Given the description of an element on the screen output the (x, y) to click on. 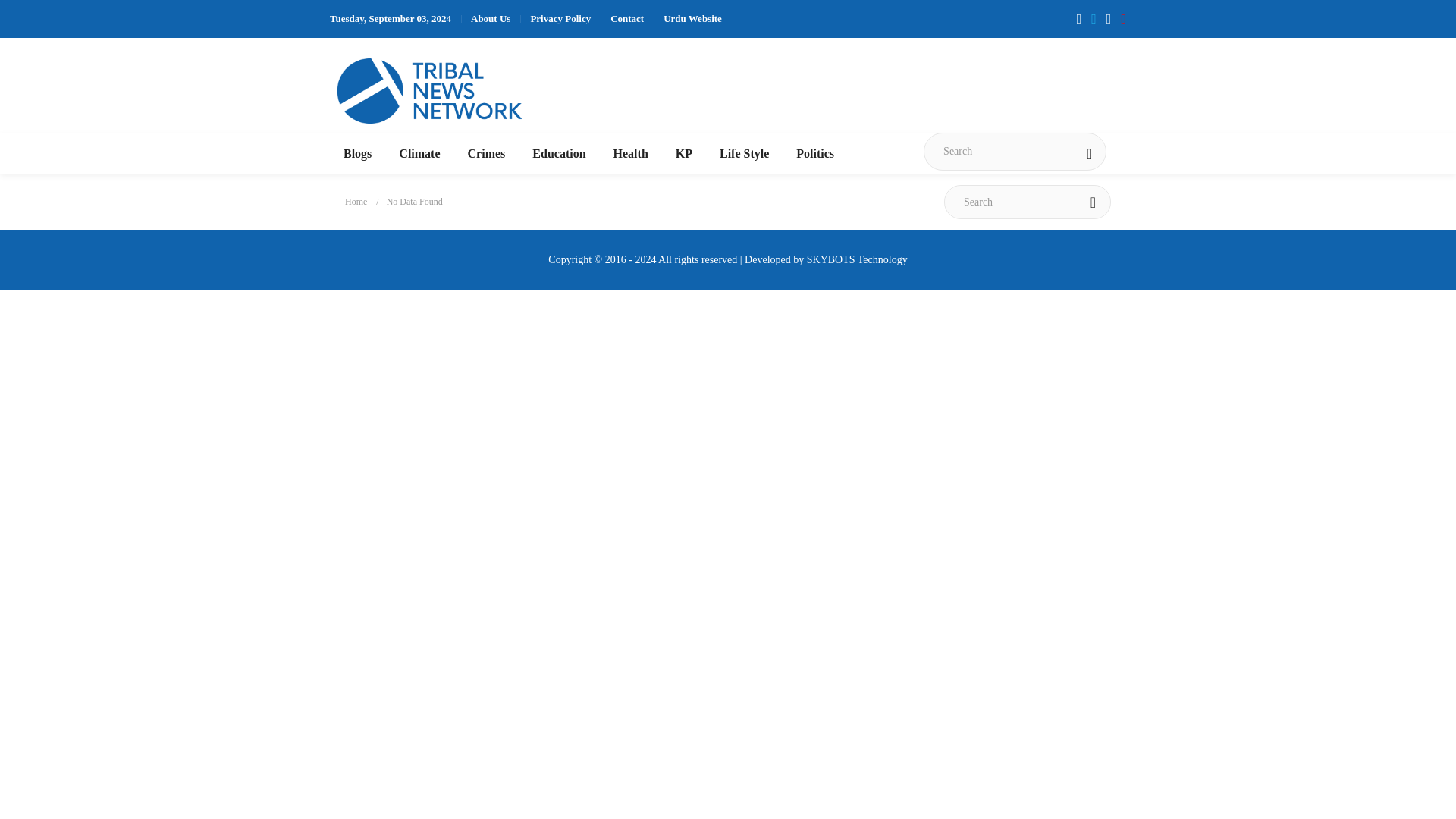
Politics (815, 153)
Climate (418, 153)
Crimes (486, 153)
Urdu Website (692, 18)
About Us (490, 18)
Education (558, 153)
Contact (626, 18)
Home (355, 201)
Privacy Policy (559, 18)
SKYBOTS Technology (856, 259)
